Given the description of an element on the screen output the (x, y) to click on. 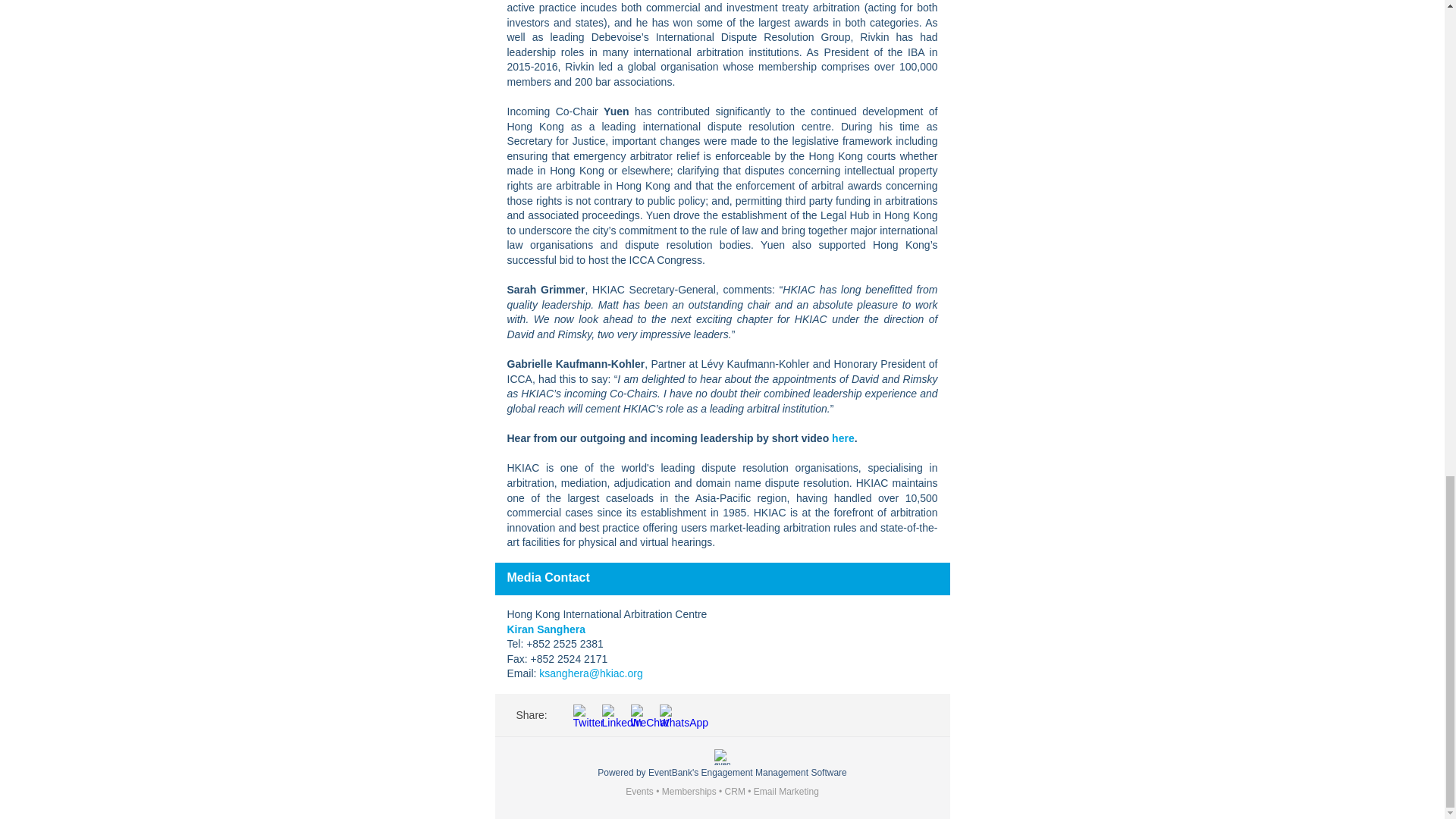
LinkedIn (612, 714)
here (842, 438)
Twitter (583, 714)
WeChat (641, 714)
WhatsApp (670, 714)
here (842, 438)
